Given the description of an element on the screen output the (x, y) to click on. 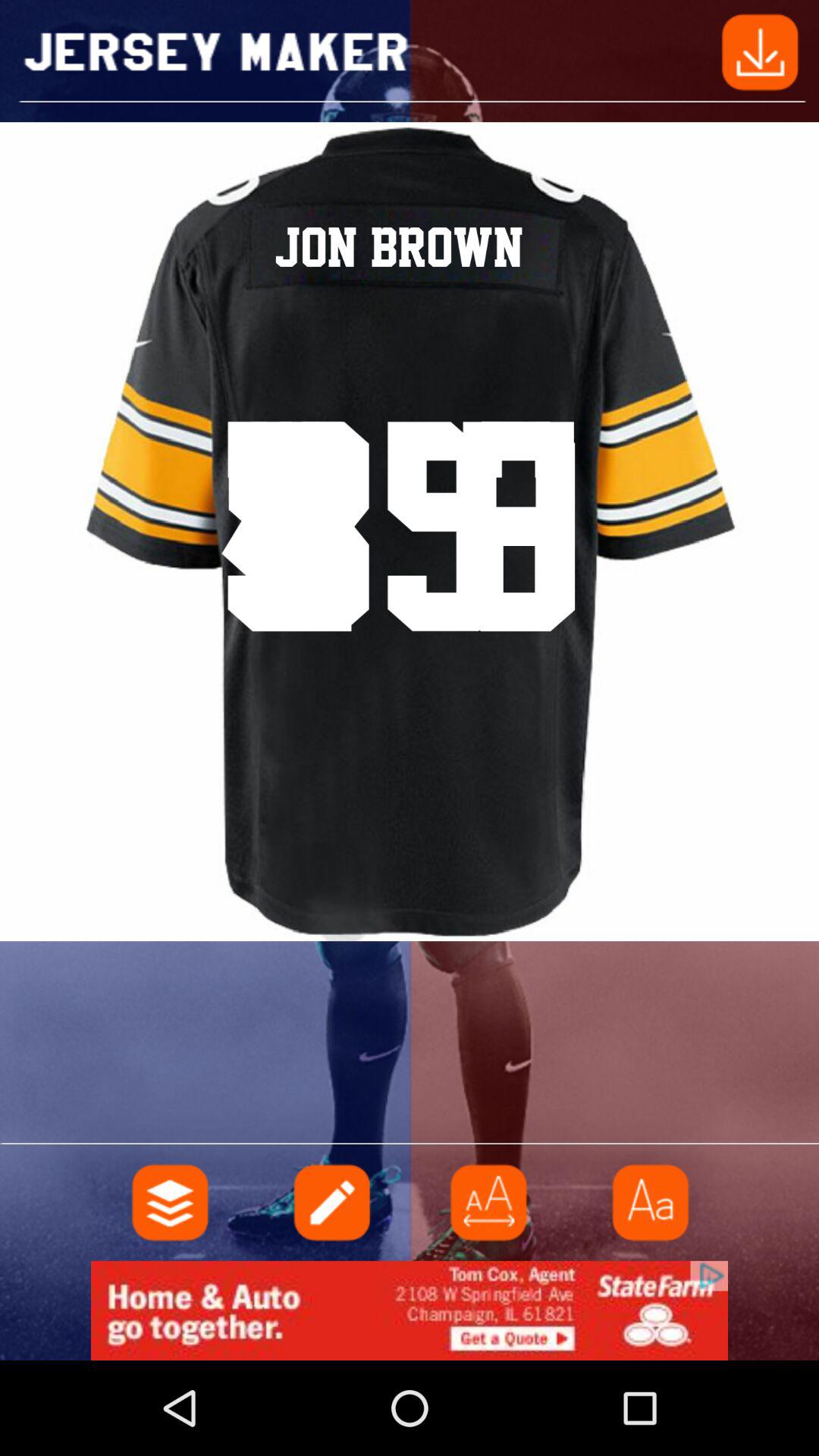
choose text (648, 1202)
